Given the description of an element on the screen output the (x, y) to click on. 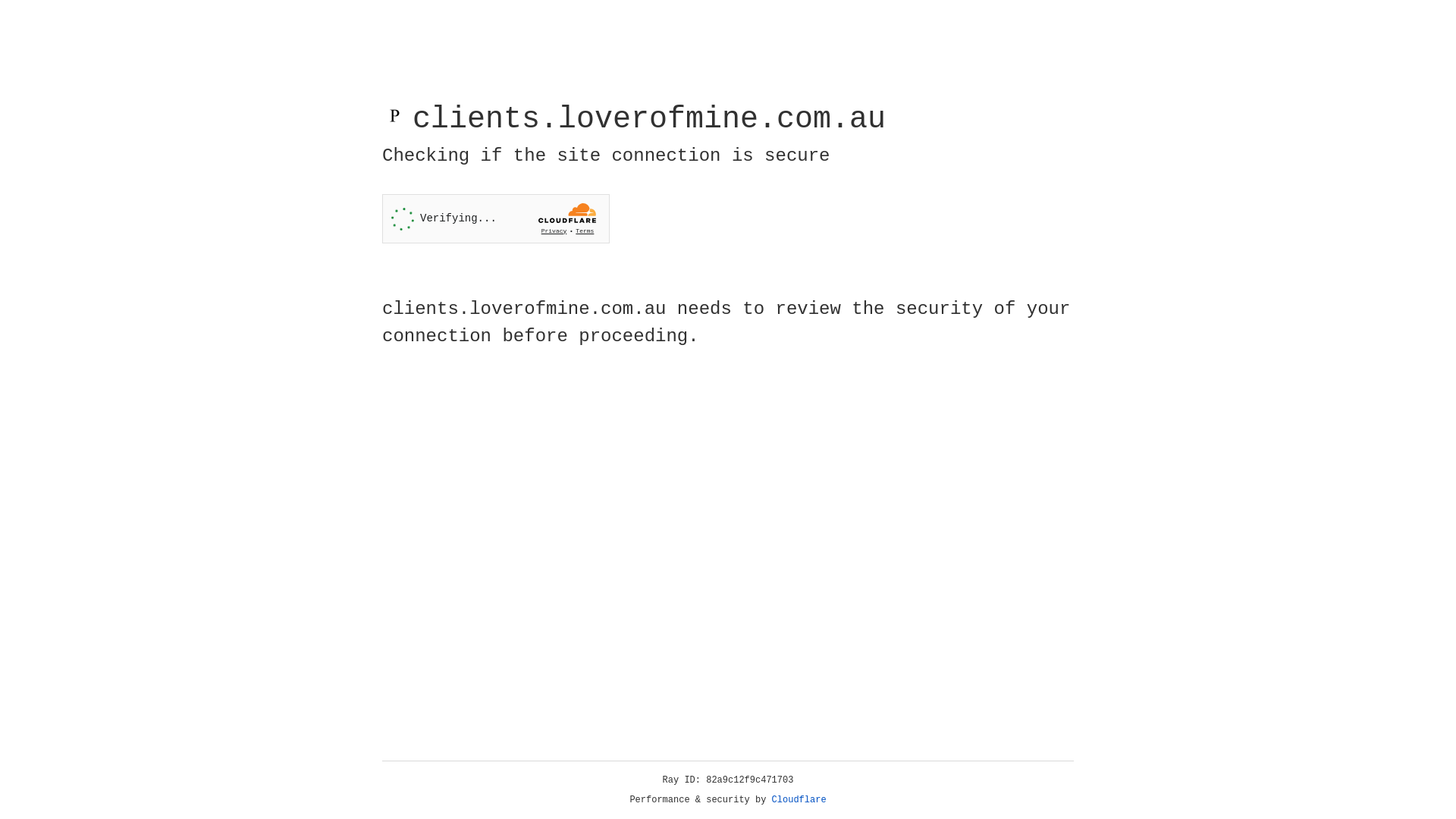
Widget containing a Cloudflare security challenge Element type: hover (495, 218)
Cloudflare Element type: text (798, 799)
